Given the description of an element on the screen output the (x, y) to click on. 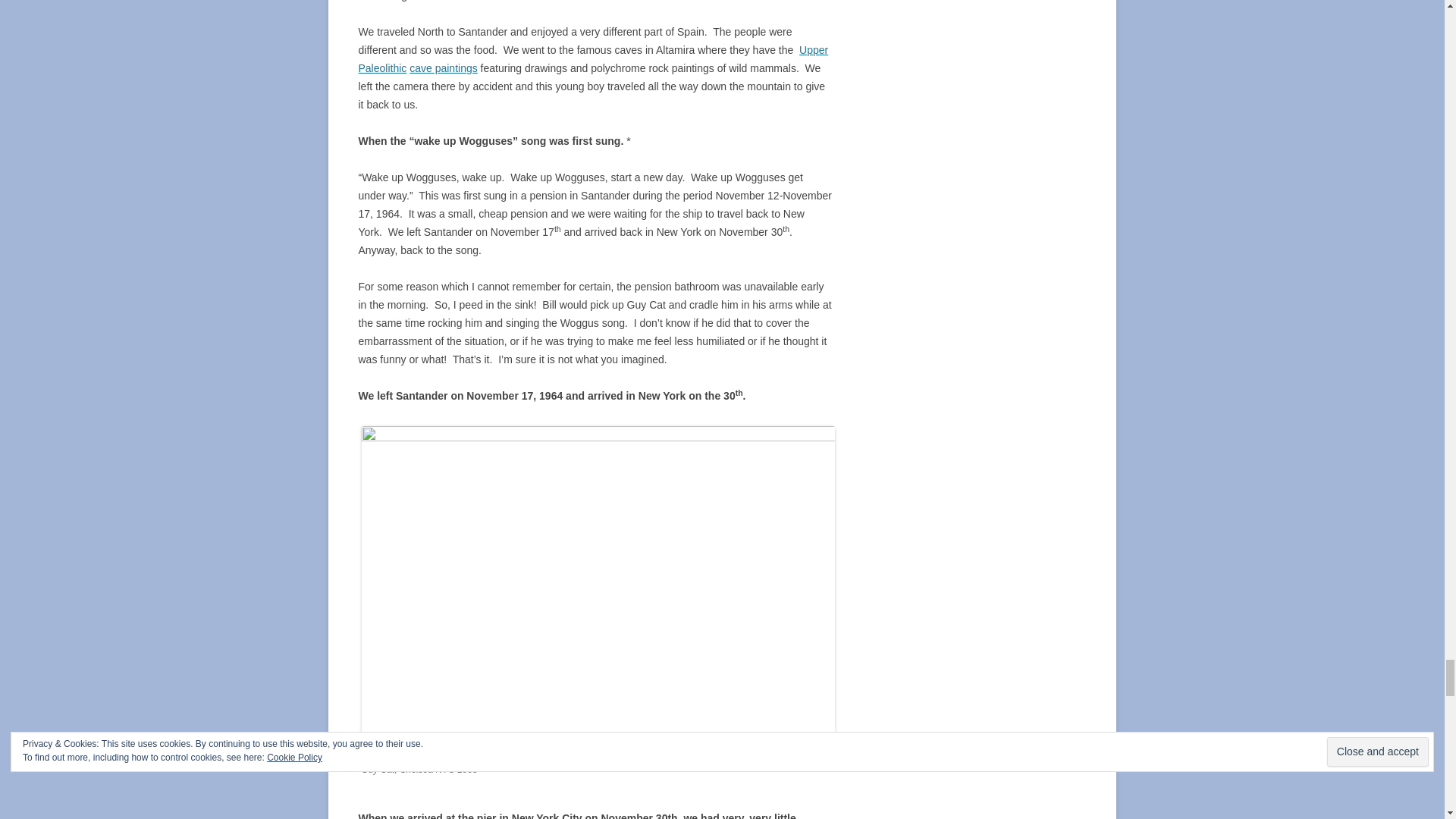
Cave painting (443, 68)
Upper Paleolithic (593, 59)
cave paintings (443, 68)
Upper Paleolithic (593, 59)
